Given the description of an element on the screen output the (x, y) to click on. 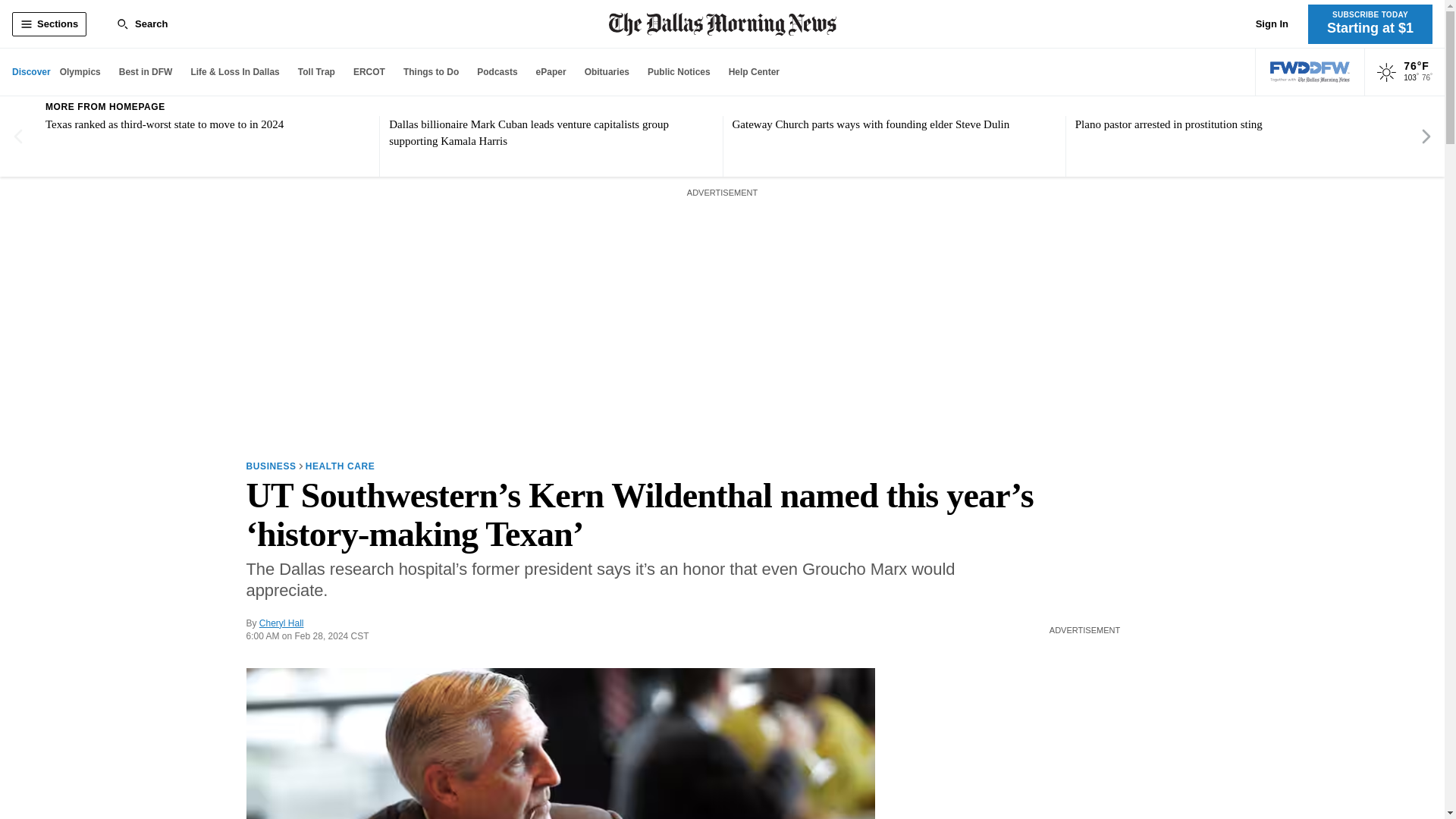
Clear sky (1386, 72)
FWD DFW, Together with The Dallas Morning News (1310, 72)
